Given the description of an element on the screen output the (x, y) to click on. 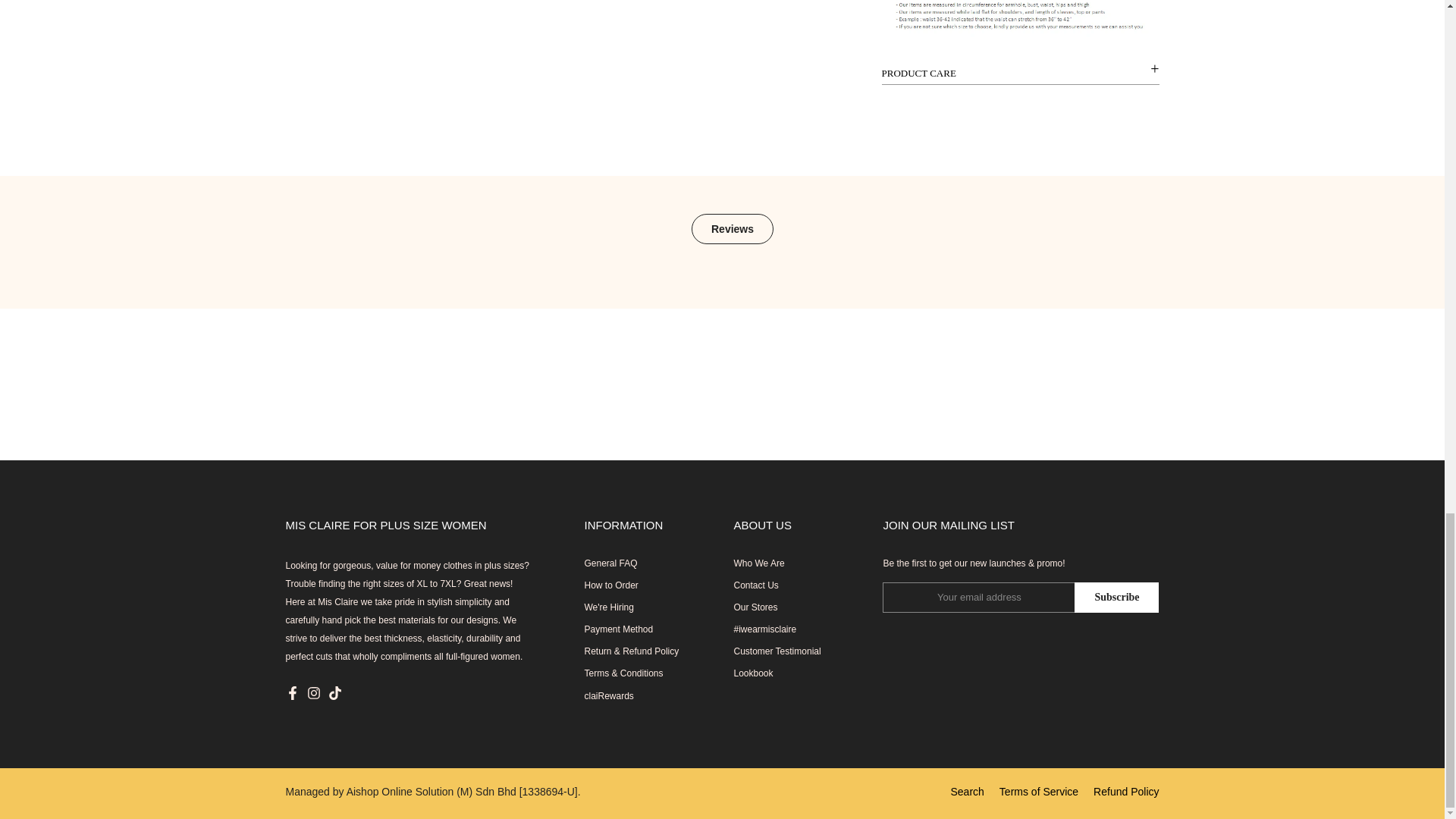
PRODUCT CARE (1019, 74)
How to Order (610, 584)
We're Hiring (608, 606)
Reviews (732, 228)
General FAQ (610, 562)
